Given the description of an element on the screen output the (x, y) to click on. 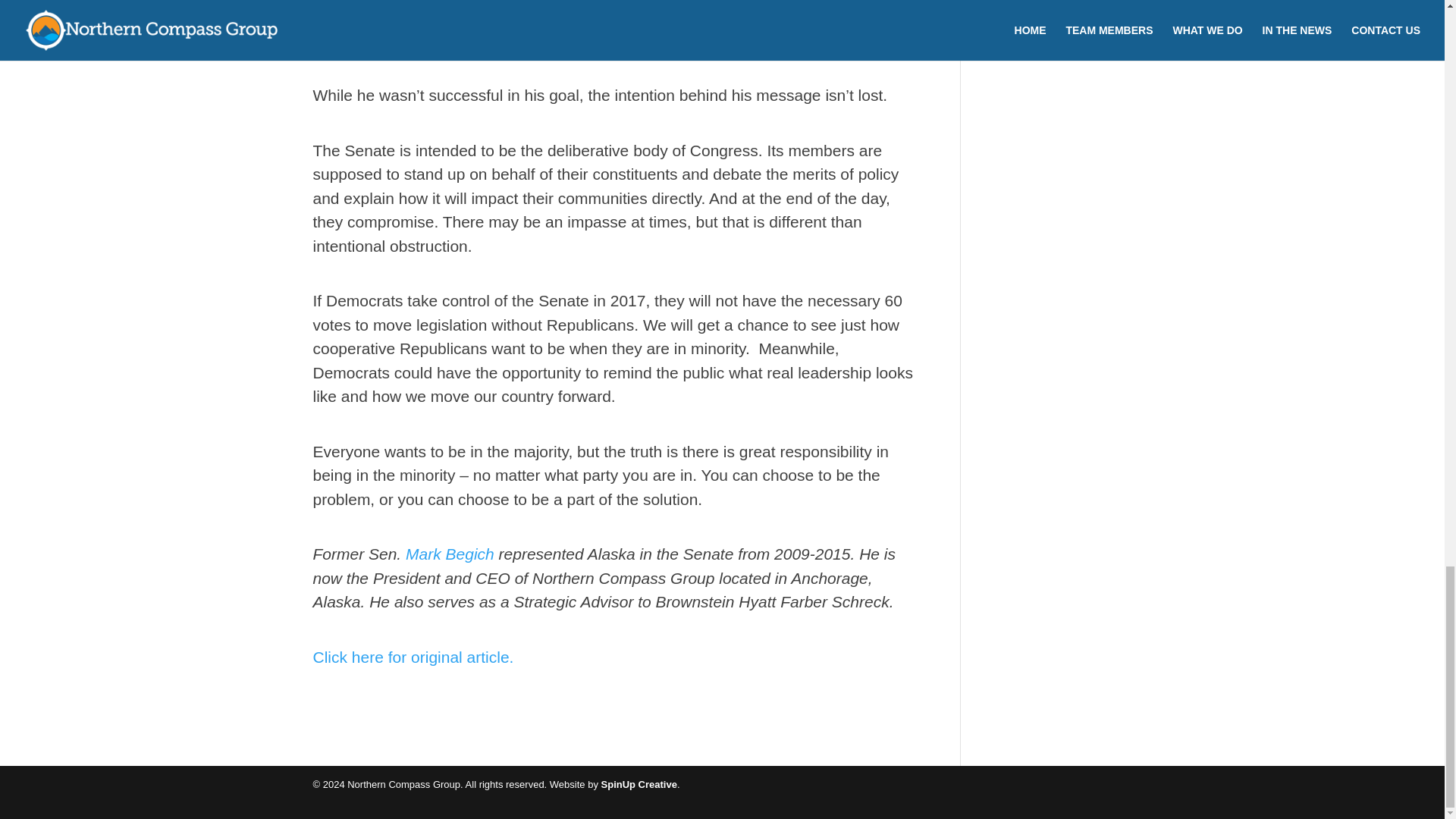
Mark Begich (450, 553)
Click here for original article.  (415, 656)
SpinUp Creative (639, 784)
